Given the description of an element on the screen output the (x, y) to click on. 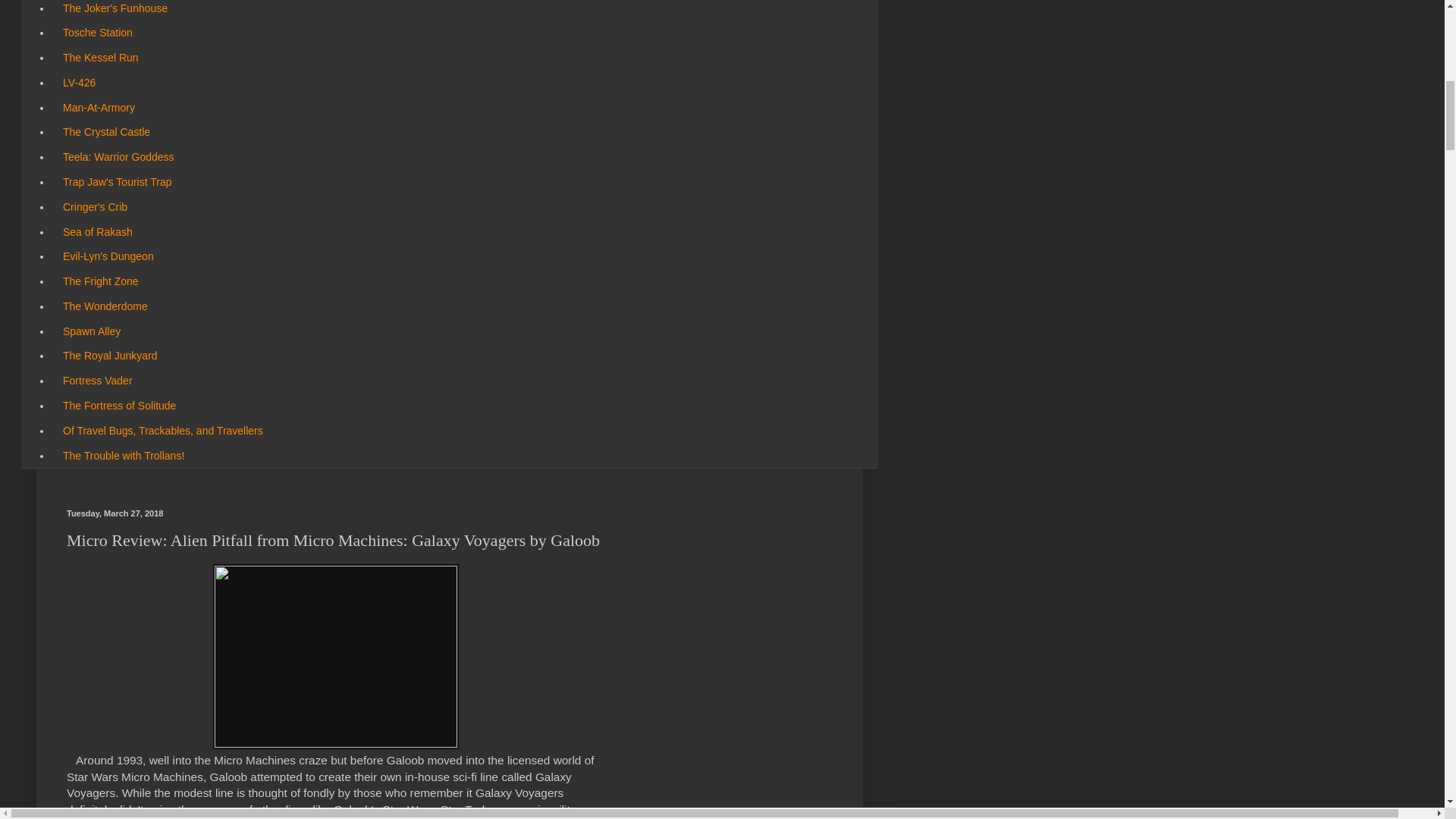
Sea of Rakash (96, 231)
Spawn Alley (90, 330)
Fortress Vader (96, 380)
The Joker's Funhouse (113, 10)
Tosche Station (96, 32)
Man-At-Armory (97, 107)
The Crystal Castle (105, 131)
Evil-Lyn's Dungeon (107, 256)
The Royal Junkyard (109, 355)
The Kessel Run (99, 57)
Teela: Warrior Goddess (117, 156)
The Wonderdome (104, 306)
Trap Jaw's Tourist Trap (116, 181)
The Trouble with Trollans! (122, 455)
The Fright Zone (99, 281)
